Given the description of an element on the screen output the (x, y) to click on. 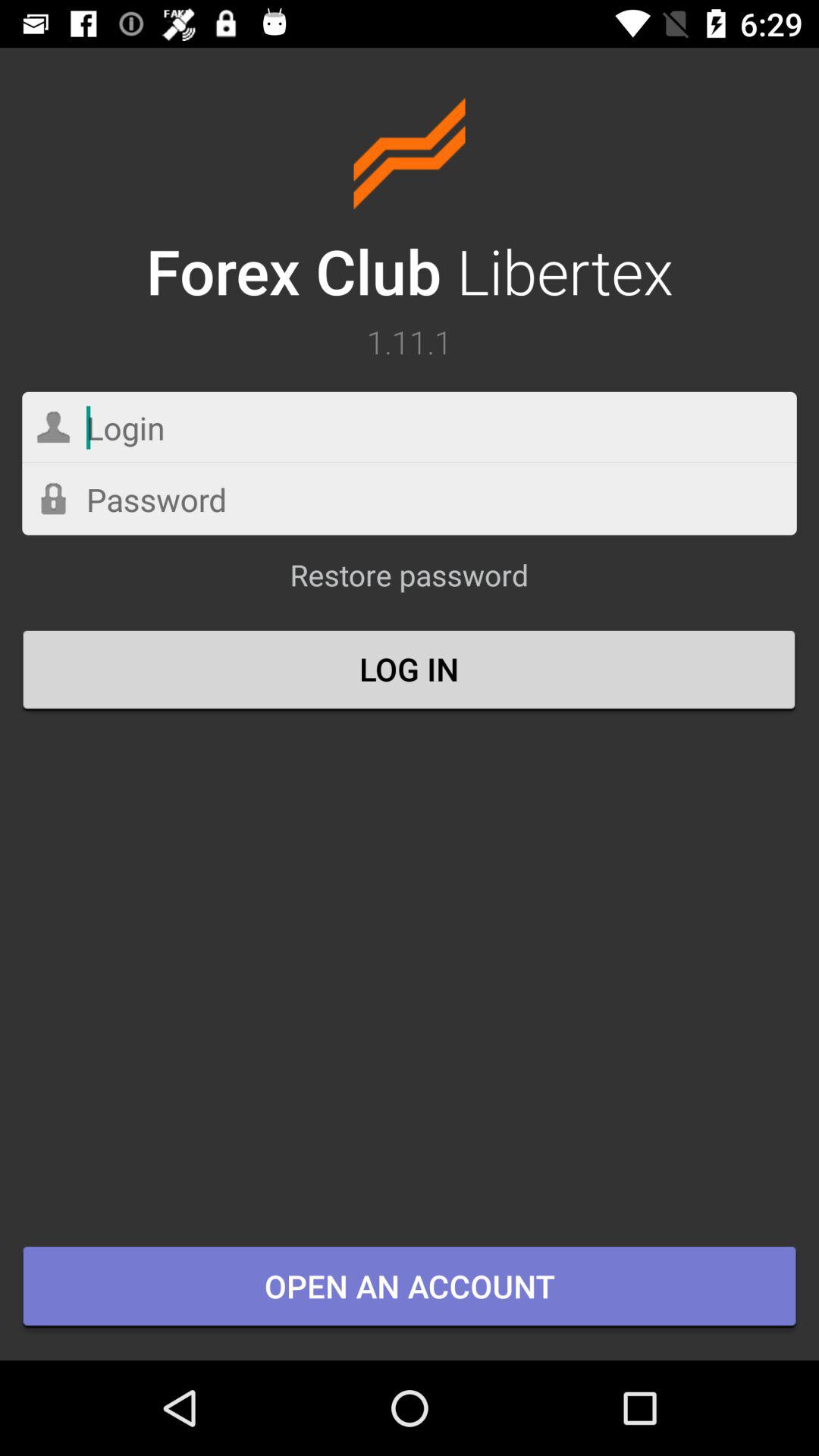
scroll until the log in (409, 671)
